Given the description of an element on the screen output the (x, y) to click on. 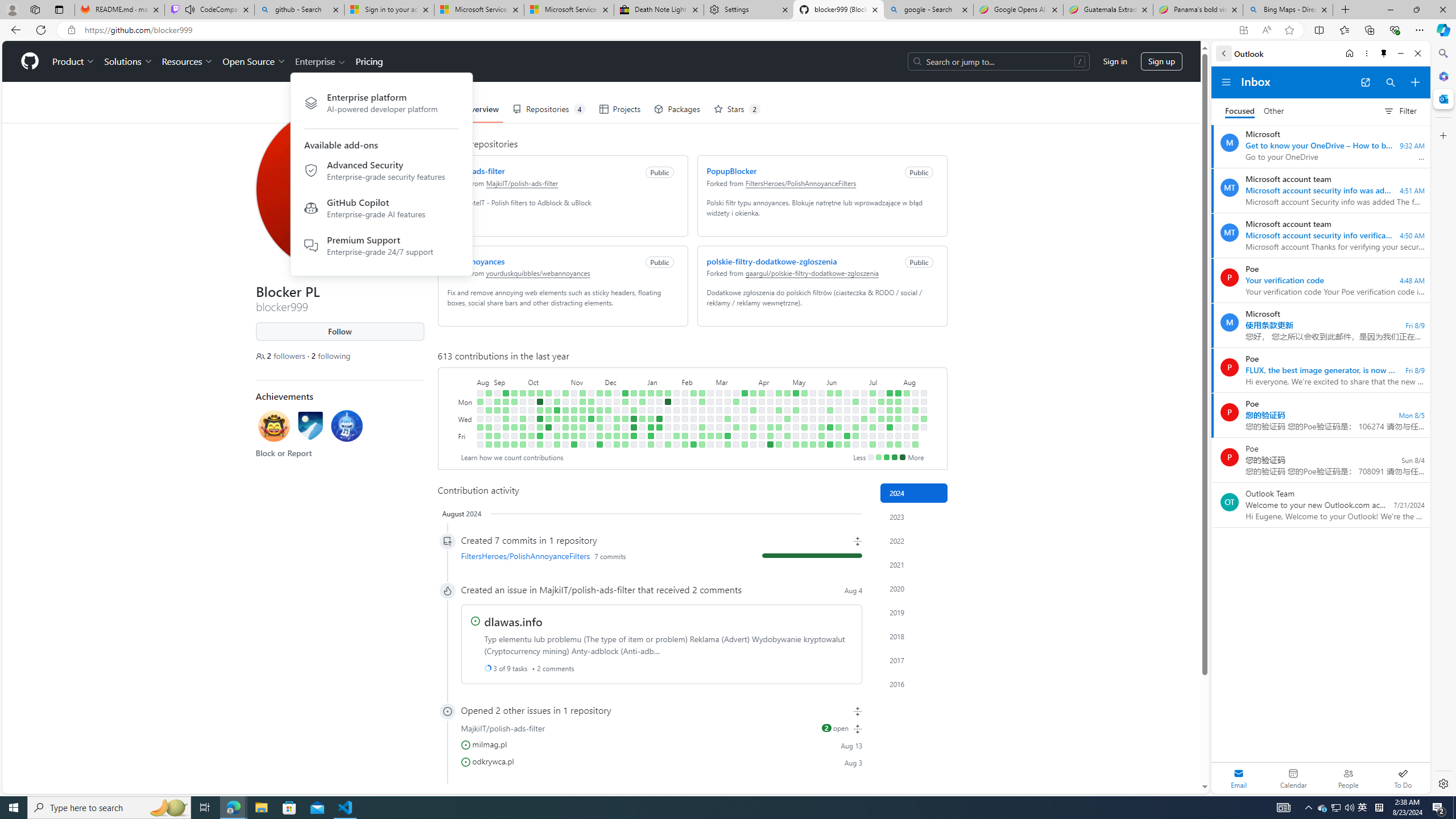
3 contributions on October 17th. (547, 410)
12 contributions on October 11th. (539, 418)
No contributions on January 9th. (650, 410)
google - Search (928, 9)
8 contributions on February 17th. (693, 444)
5 contributions on August 29th. (488, 410)
6 contributions on March 15th. (726, 435)
No contributions on February 13th. (693, 410)
2023 (913, 516)
2 contributions on September 2nd. (488, 444)
Collections (1369, 29)
New Tab (1346, 9)
1 contribution on December 24th. (633, 392)
June (847, 380)
